Given the description of an element on the screen output the (x, y) to click on. 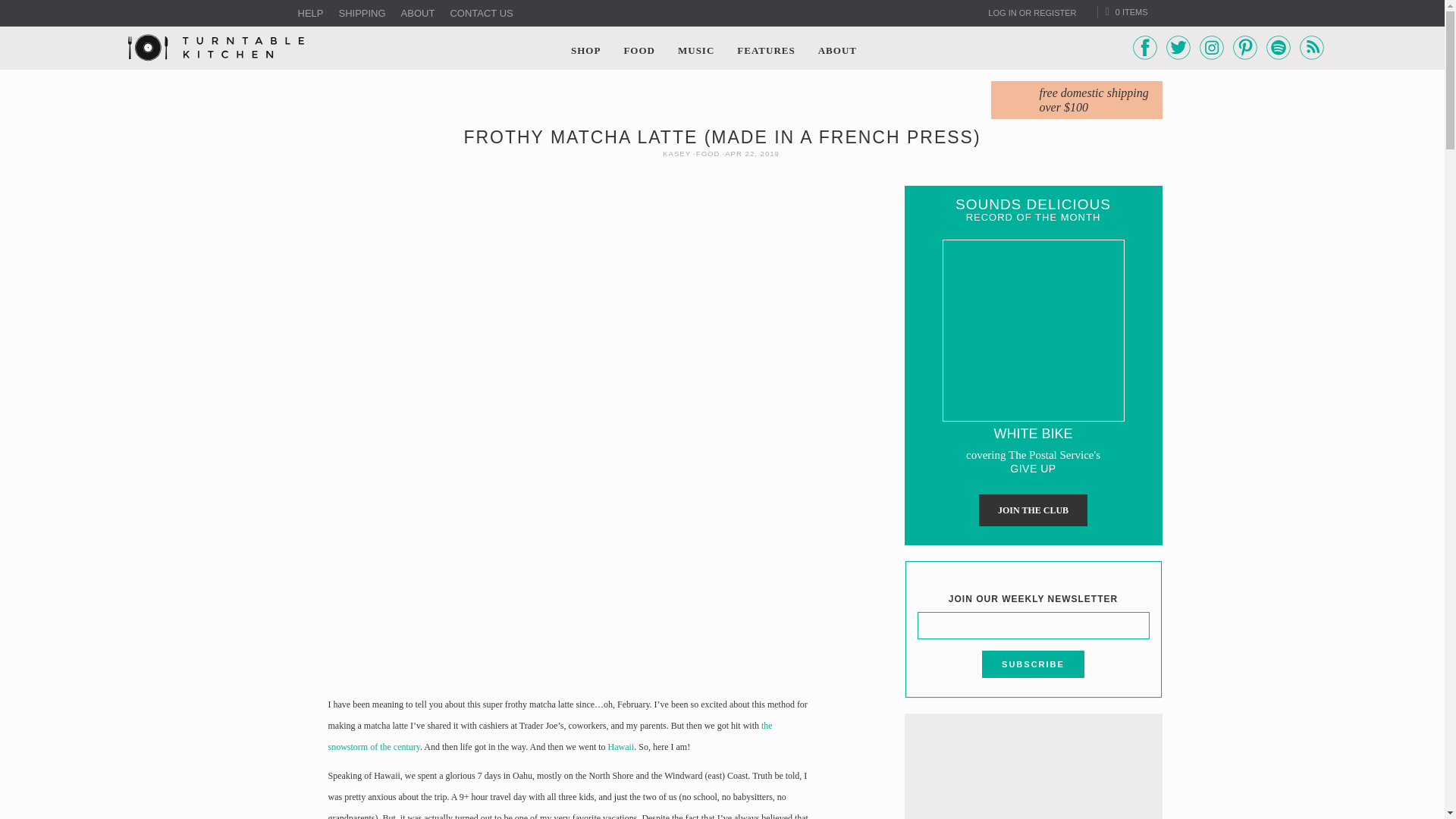
ABOUT (418, 13)
0 ITEMS (1126, 11)
Subscribe (1032, 664)
View your shopping cart (1126, 11)
SHOP (585, 47)
HELP (310, 13)
LOG IN OR REGISTER (1031, 12)
Log In (1031, 12)
SHIPPING (361, 13)
CONTACT US (480, 13)
